Given the description of an element on the screen output the (x, y) to click on. 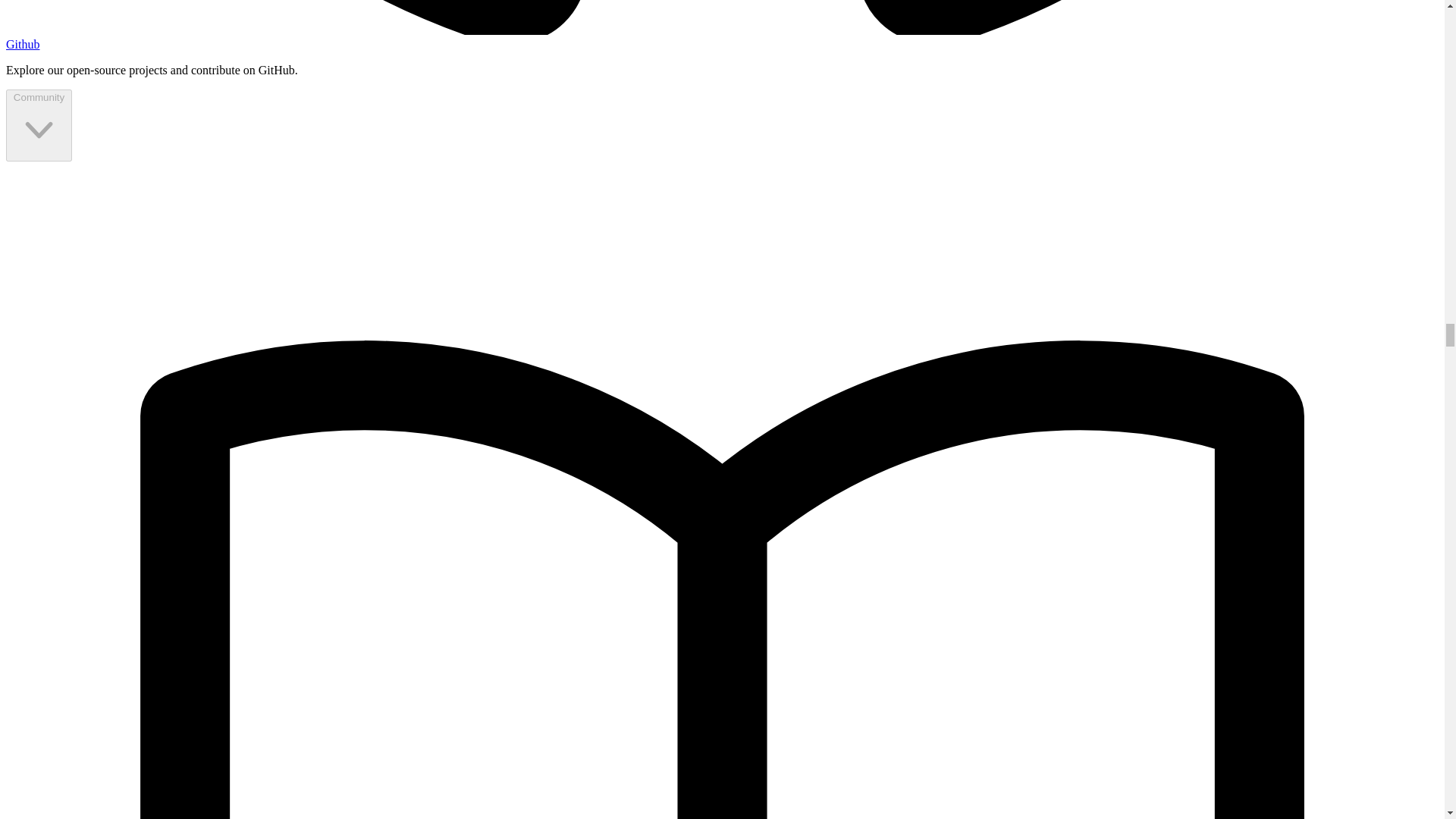
Github (22, 43)
Community (38, 125)
Github (22, 43)
